Given the description of an element on the screen output the (x, y) to click on. 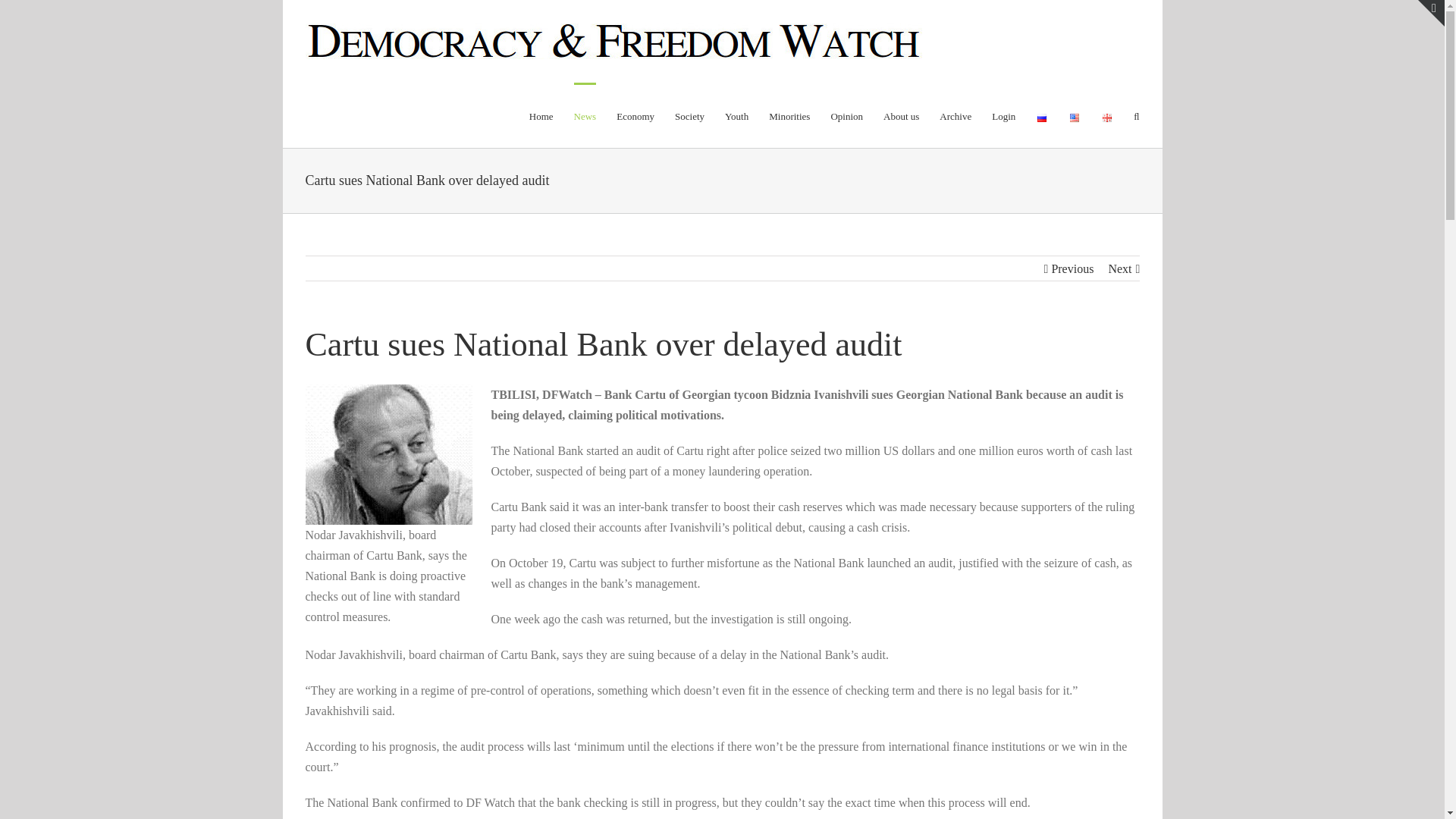
Login (1002, 115)
Economy (634, 115)
Archive (955, 115)
Youth (736, 115)
Society (689, 115)
Home (541, 115)
News (584, 115)
Minorities (788, 115)
Opinion (846, 115)
About us (900, 115)
